Given the description of an element on the screen output the (x, y) to click on. 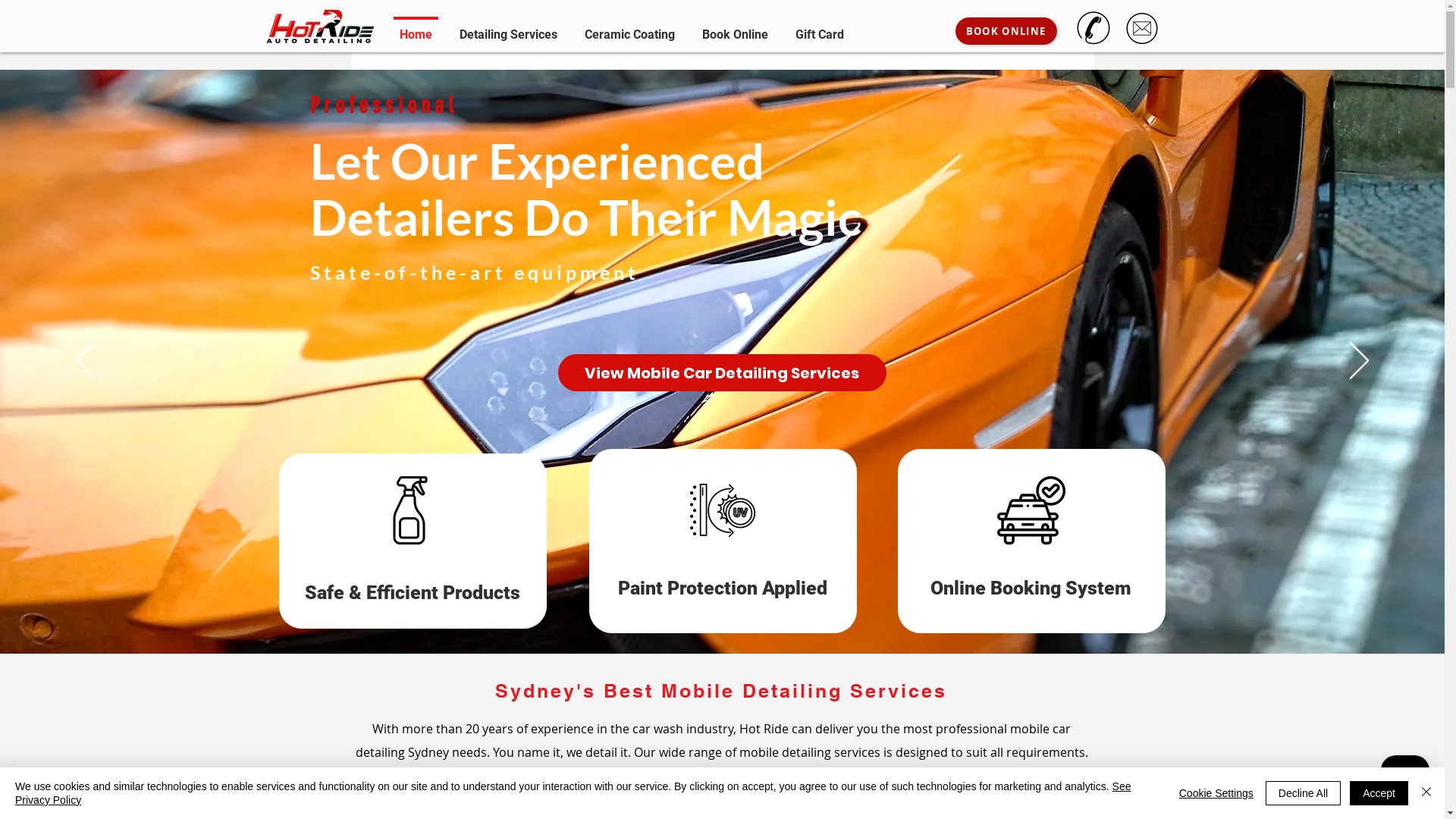
Hot Ride - Mobile Detailing Sydney Element type: hover (319, 26)
Ceramic Coating Element type: text (628, 27)
See Privacy Policy Element type: text (572, 793)
Online Booking System Element type: text (1030, 588)
Safe & Efficient Products Element type: text (412, 592)
Book Online Element type: text (734, 27)
Accept Element type: text (1378, 793)
Paint Protection Applied Element type: text (721, 588)
Decline All Element type: text (1302, 793)
Detailing Services Element type: text (508, 27)
Gift Card Element type: text (818, 27)
Home Element type: text (415, 27)
BOOK ONLINE Element type: text (1006, 30)
View Mobile Car Detailing Services Element type: text (722, 372)
